Given the description of an element on the screen output the (x, y) to click on. 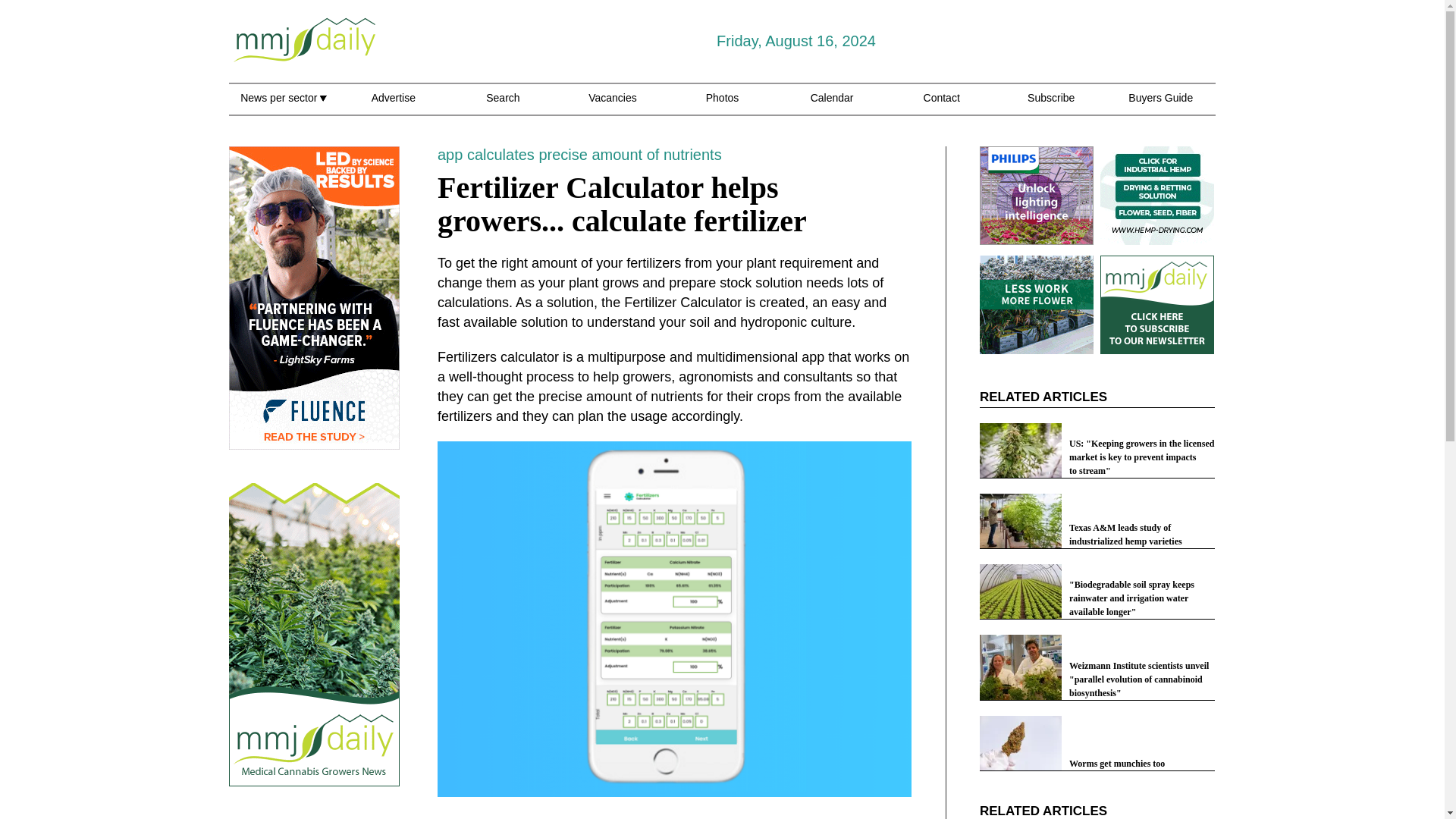
Search (502, 106)
Photos (722, 106)
Contact (941, 106)
News per sector (283, 106)
Advertise (392, 106)
Calendar (831, 106)
Vacancies (612, 106)
